Given the description of an element on the screen output the (x, y) to click on. 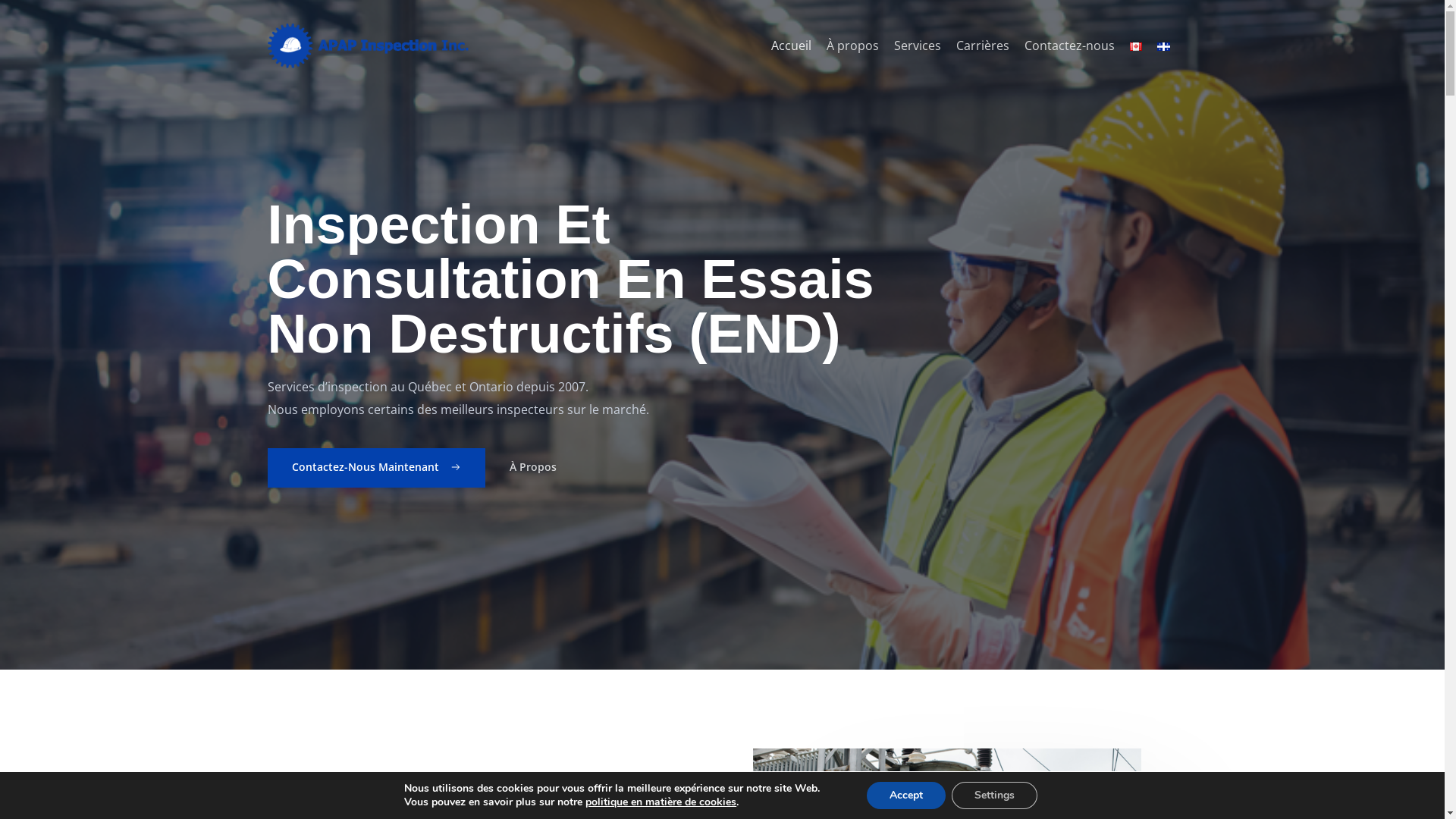
Settings Element type: text (994, 795)
Contactez-nous Element type: text (1068, 45)
Contactez-Nous Maintenant Element type: text (375, 467)
Accueil Element type: text (790, 45)
Accept Element type: text (905, 795)
Services Element type: text (916, 45)
